Given the description of an element on the screen output the (x, y) to click on. 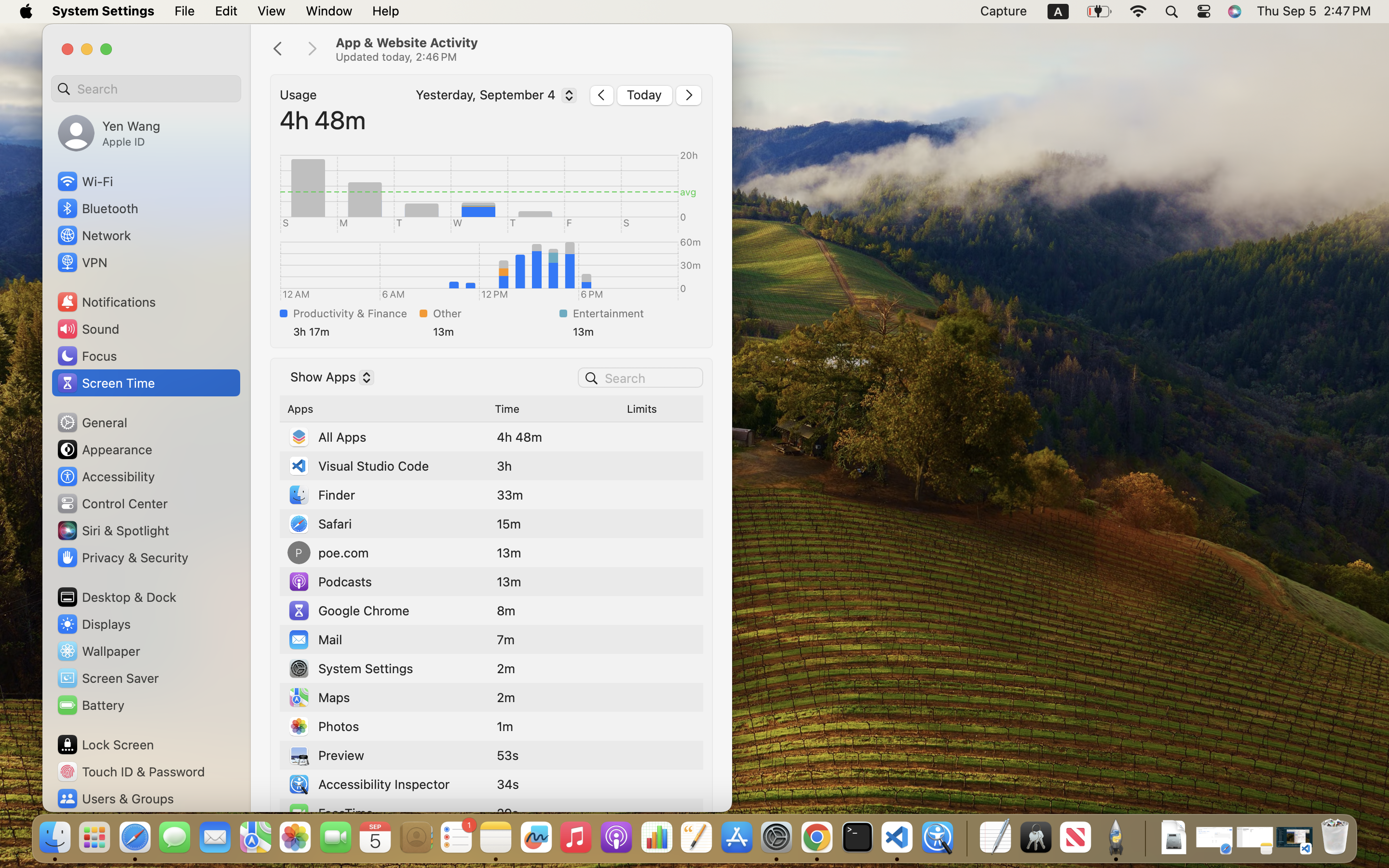
Preview Element type: AXStaticText (325, 754)
8m Element type: AXStaticText (505, 610)
Touch ID & Password Element type: AXStaticText (130, 771)
53s Element type: AXStaticText (507, 754)
FaceTime Element type: AXStaticText (330, 812)
